Given the description of an element on the screen output the (x, y) to click on. 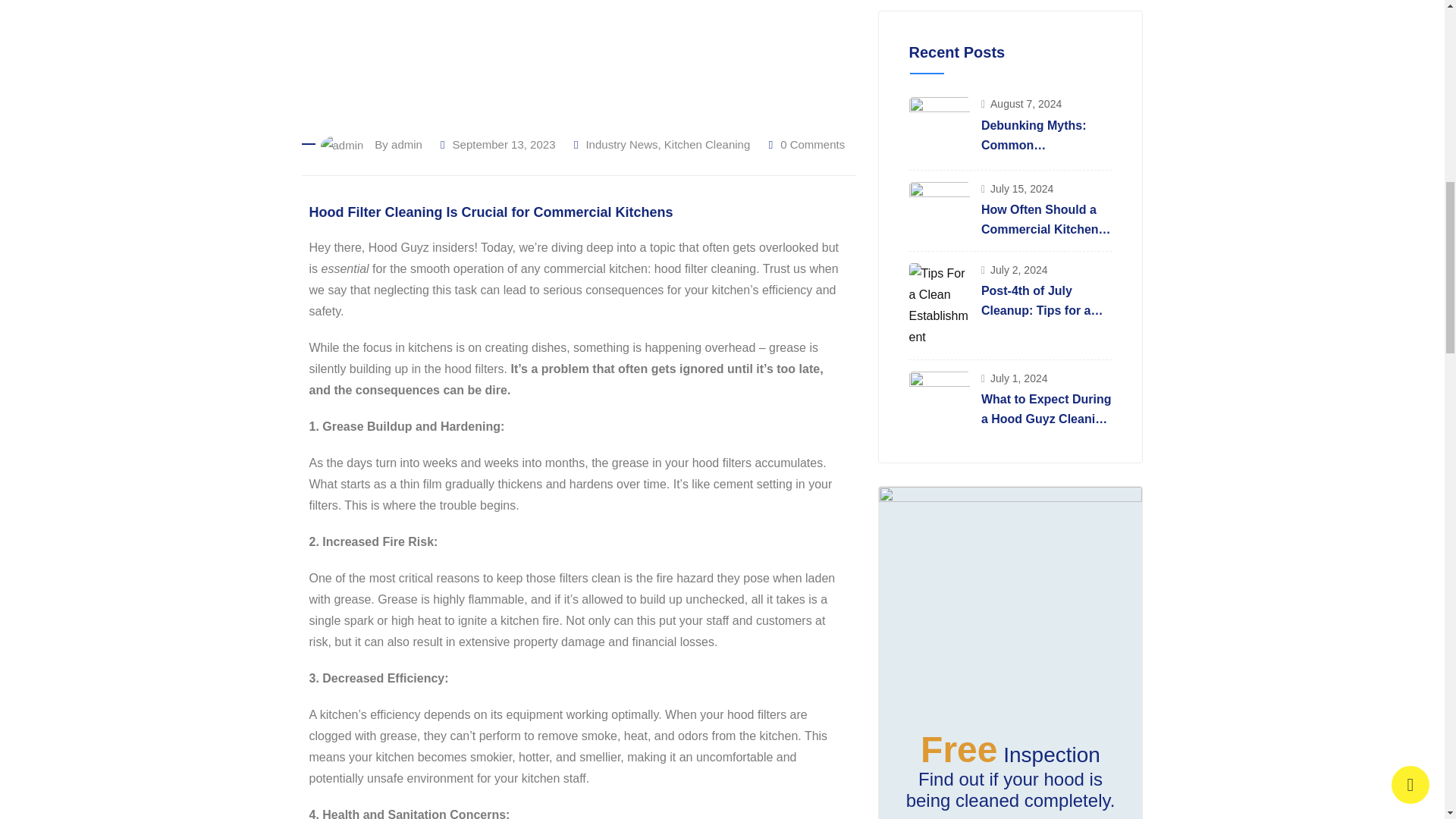
How Often Should a Commercial Kitchen Be Deep Cleaned? (938, 207)
Debunking Myths: Common Misconceptions About Hood Cleaning (938, 127)
What to Expect During a Hood Guyz Cleaning Service (938, 401)
